Given the description of an element on the screen output the (x, y) to click on. 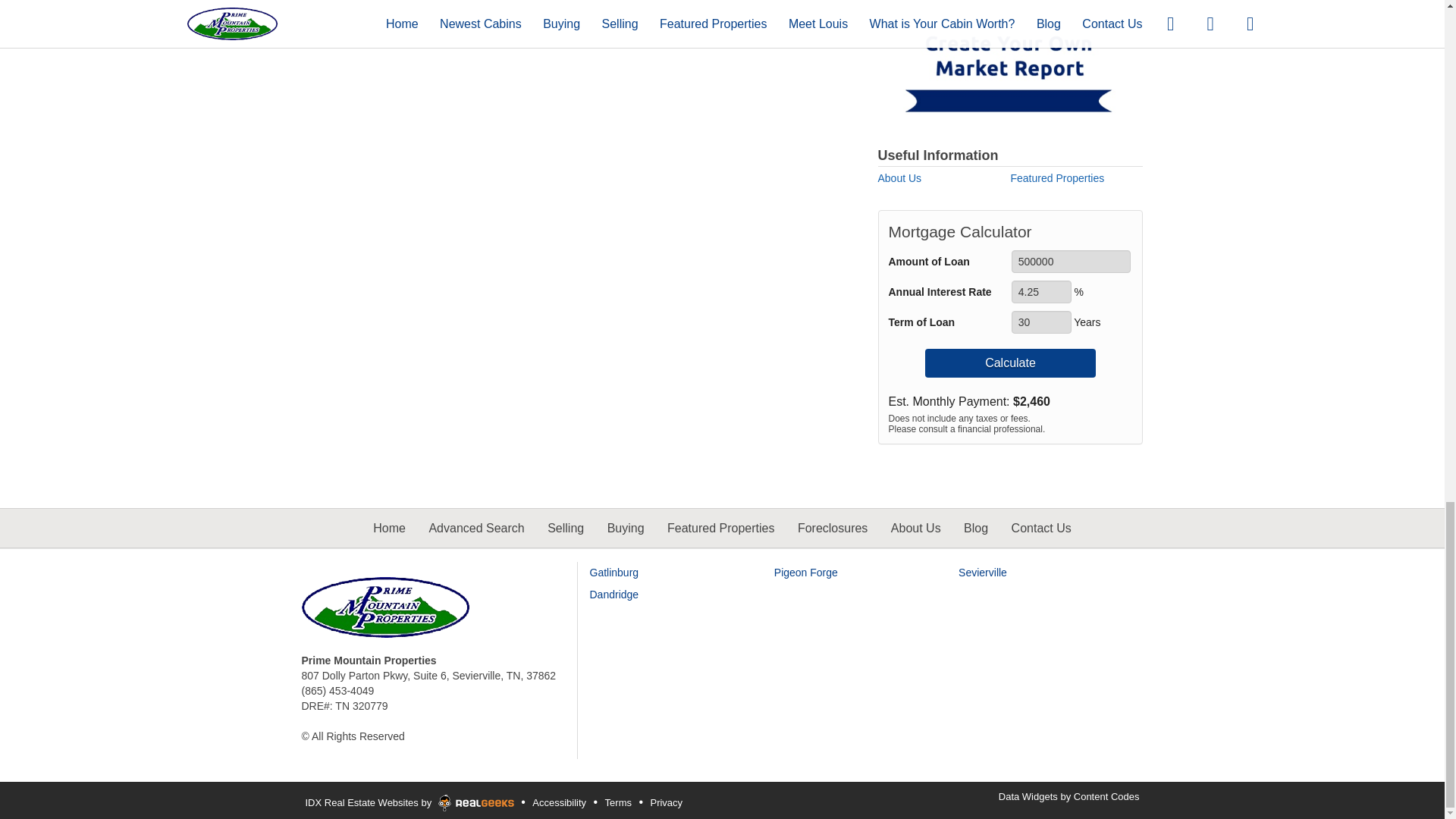
500000 (1071, 261)
4.25 (1041, 291)
30 (1041, 322)
